Given the description of an element on the screen output the (x, y) to click on. 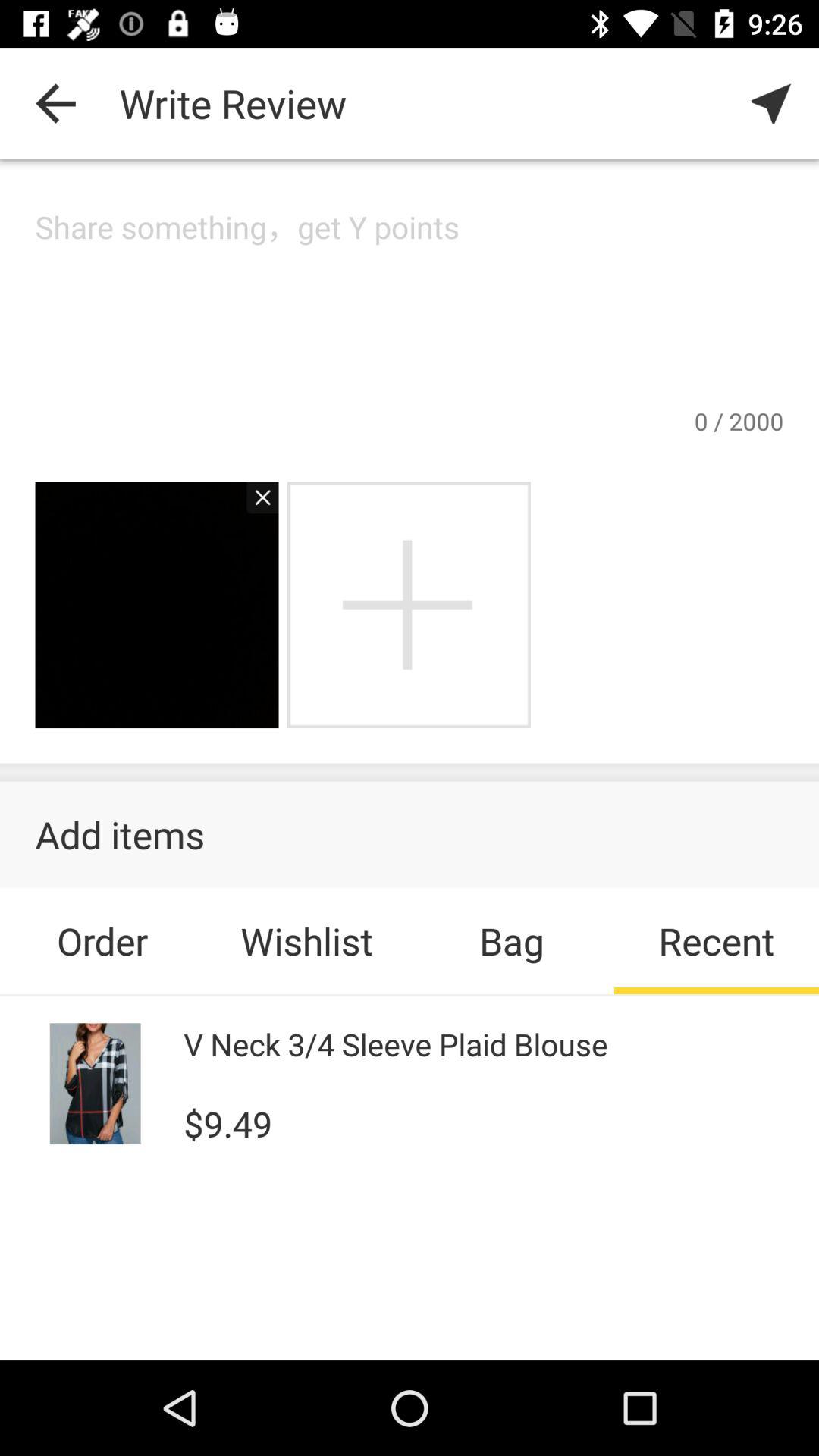
open item below v neck 3 icon (227, 1121)
